Given the description of an element on the screen output the (x, y) to click on. 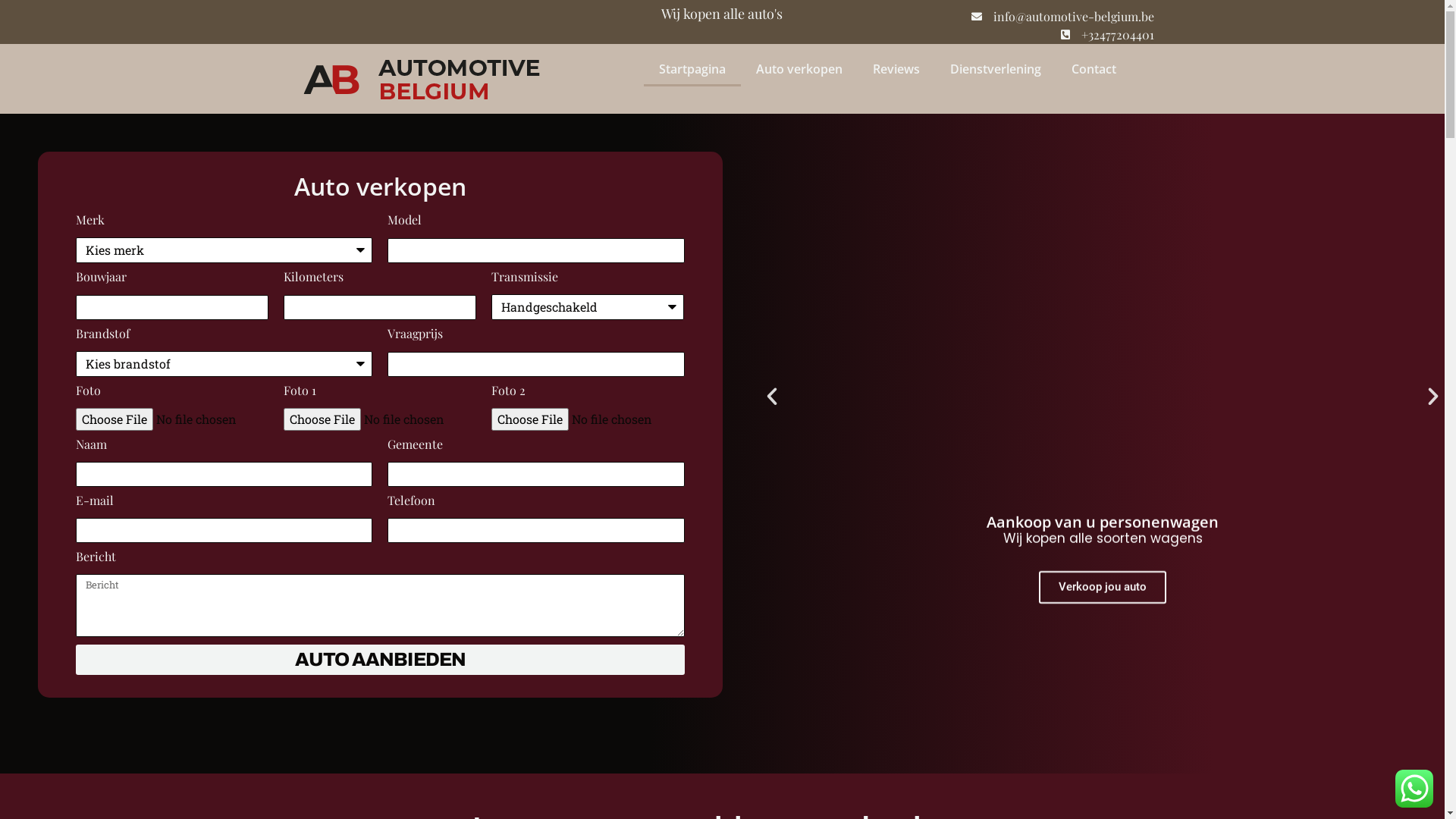
AUTO AANBIEDEN Element type: text (379, 659)
Dienstverlening Element type: text (994, 68)
info@automotive-belgium.be Element type: text (1061, 16)
+32477204401 Element type: text (1105, 34)
Contact Element type: text (1092, 68)
Reviews Element type: text (895, 68)
Auto verkopen Element type: text (798, 68)
Startpagina Element type: text (691, 68)
